Given the description of an element on the screen output the (x, y) to click on. 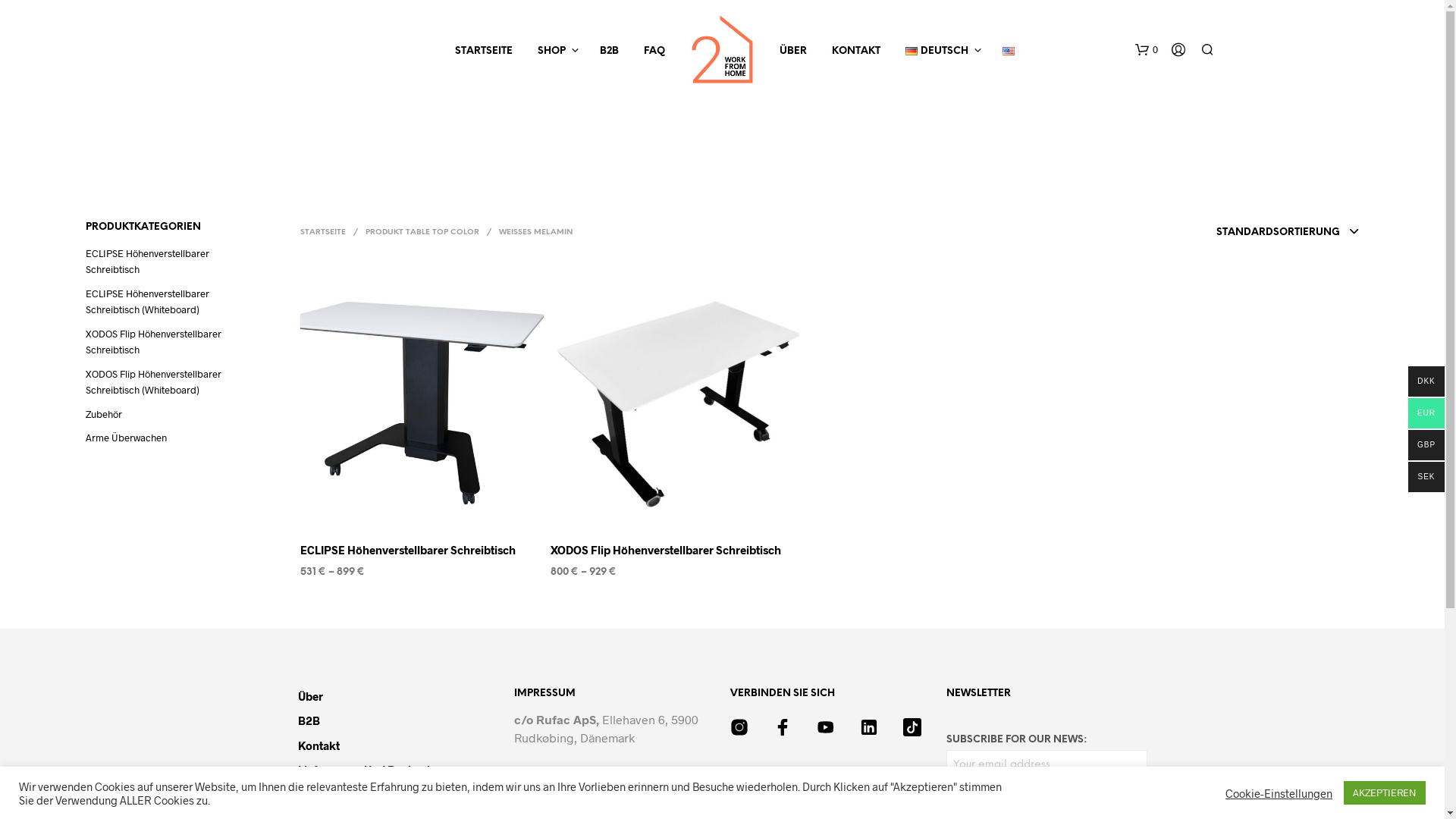
AKZEPTIEREN Element type: text (1384, 792)
SHOP Element type: text (551, 51)
Cookie-Einstellungen Element type: text (1278, 792)
DEUTSCH Element type: text (936, 51)
0 Element type: text (1145, 49)
Terms & Bedingungen Element type: text (354, 794)
STARTSEITE Element type: text (483, 51)
FAQ Element type: text (654, 51)
STARTSEITE Element type: text (322, 232)
Kontakt Element type: text (317, 745)
B2B Element type: text (308, 720)
KONTAKT Element type: text (855, 51)
B2B Element type: text (609, 51)
